Given the description of an element on the screen output the (x, y) to click on. 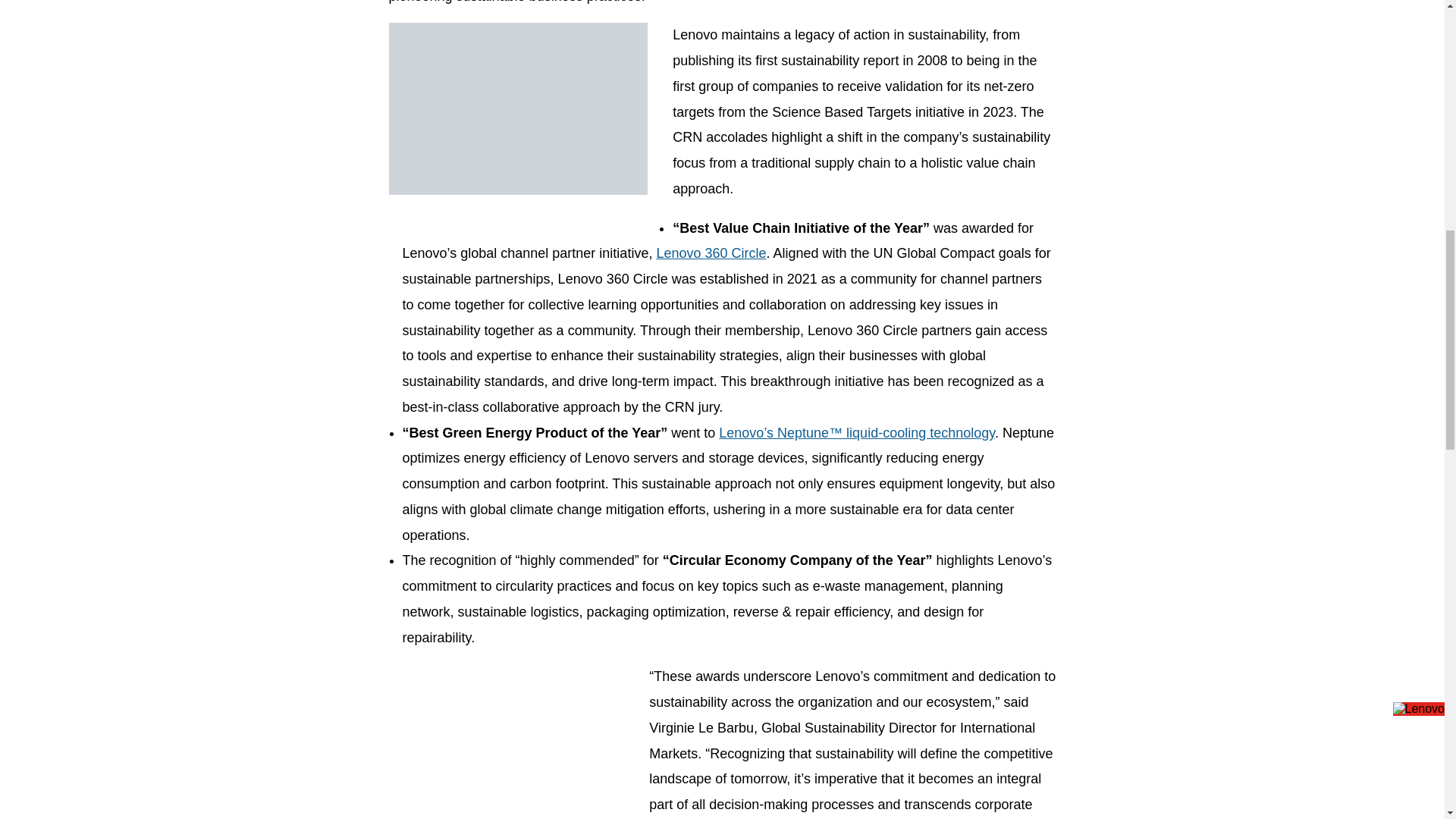
Lenovo 360 Circle (710, 253)
